Given the description of an element on the screen output the (x, y) to click on. 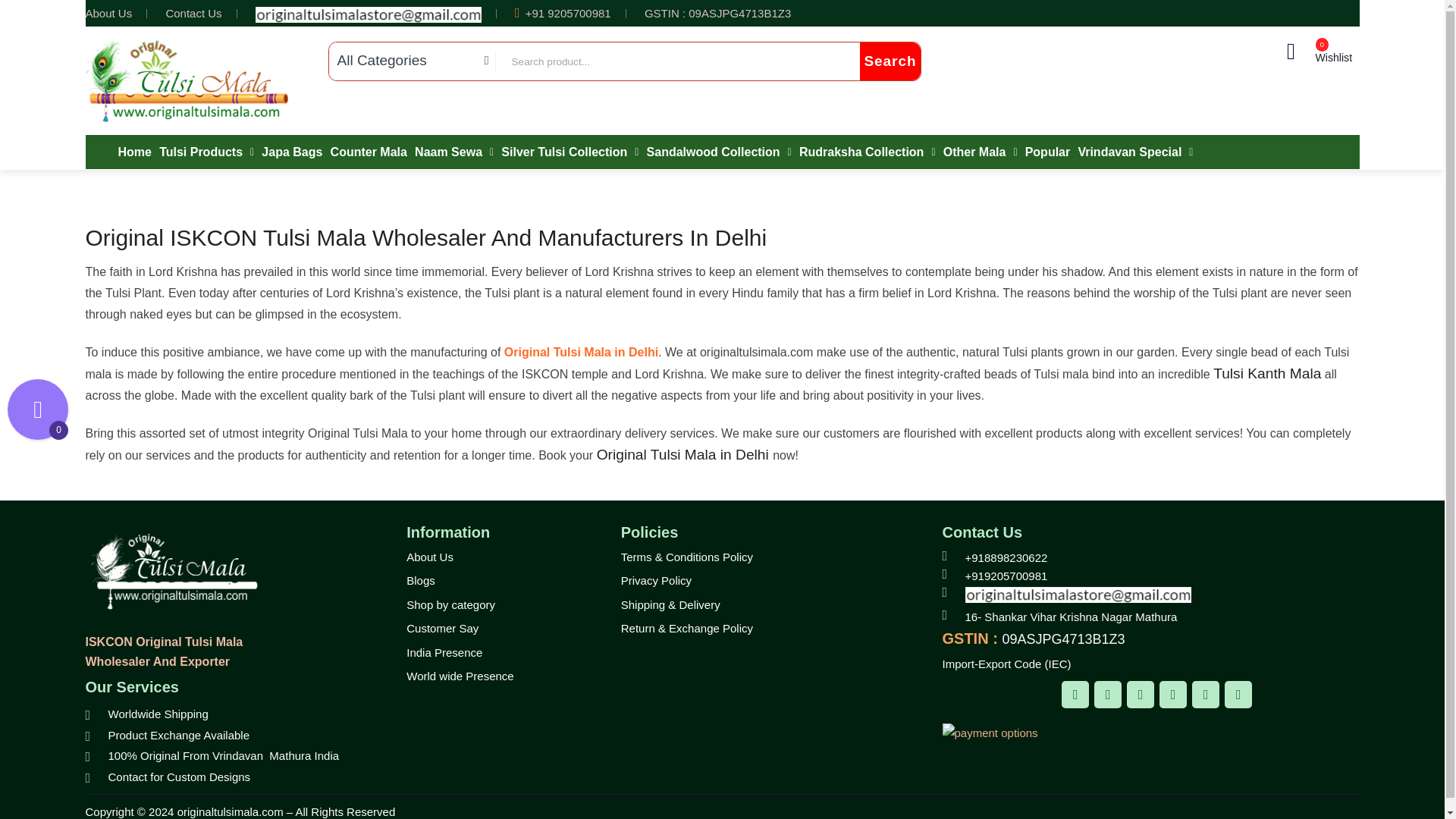
Youtube (1238, 694)
originaltulsimala.com (170, 571)
Facebook (1075, 694)
Twitter (1107, 694)
About Us (108, 12)
Linkedin (1206, 694)
Pinterest (1172, 694)
Contact Us (193, 12)
originaltulsimala.com (186, 79)
Instagram (1140, 694)
